Given the description of an element on the screen output the (x, y) to click on. 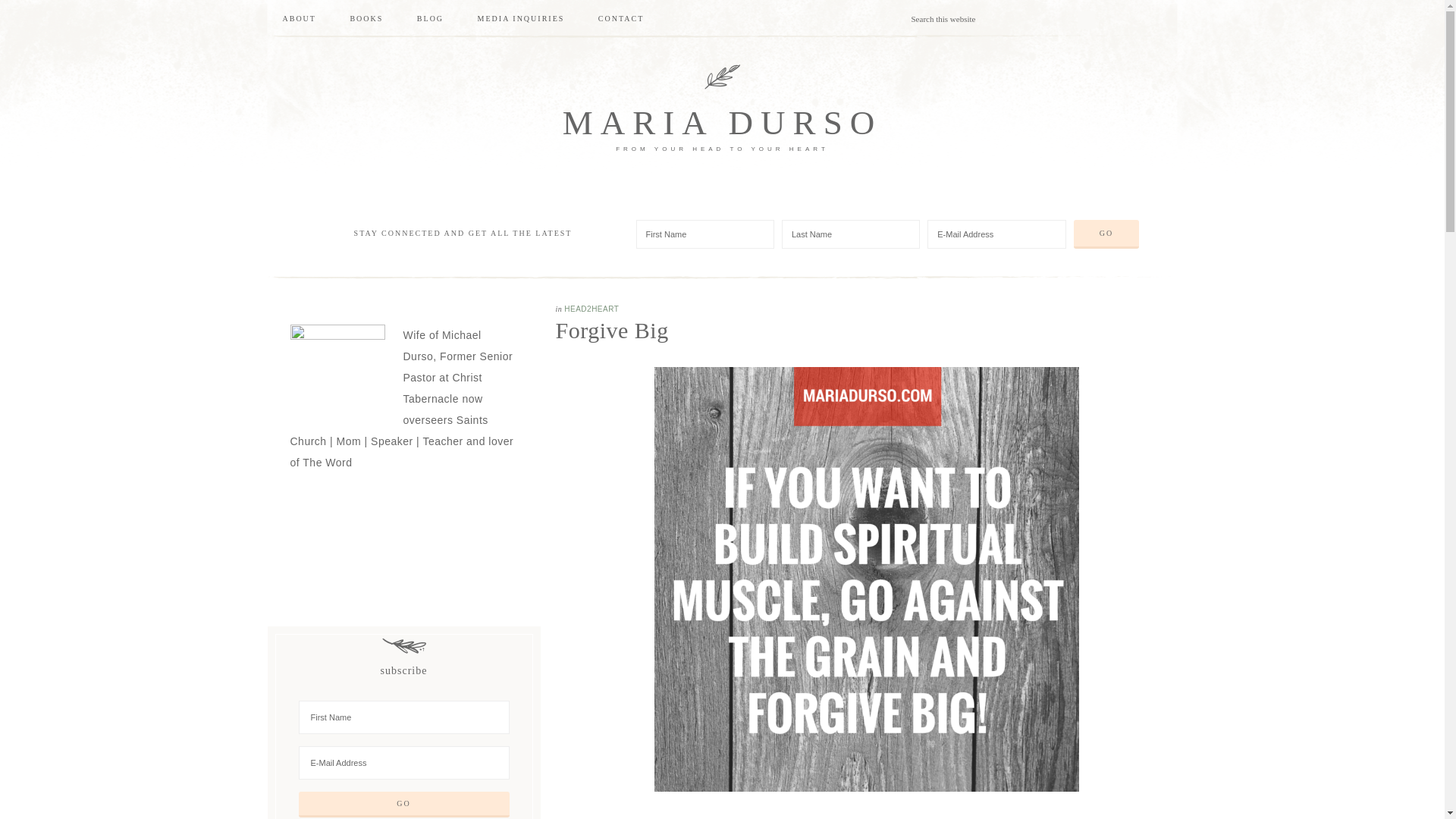
MEDIA INQUIRIES (521, 18)
BOOKS (365, 18)
Go (1106, 234)
Go (403, 804)
HEAD2HEART (591, 308)
MARIA DURSO (722, 122)
Go (403, 804)
CONTACT (621, 18)
Go (1106, 234)
ABOUT (298, 18)
BLOG (429, 18)
